Given the description of an element on the screen output the (x, y) to click on. 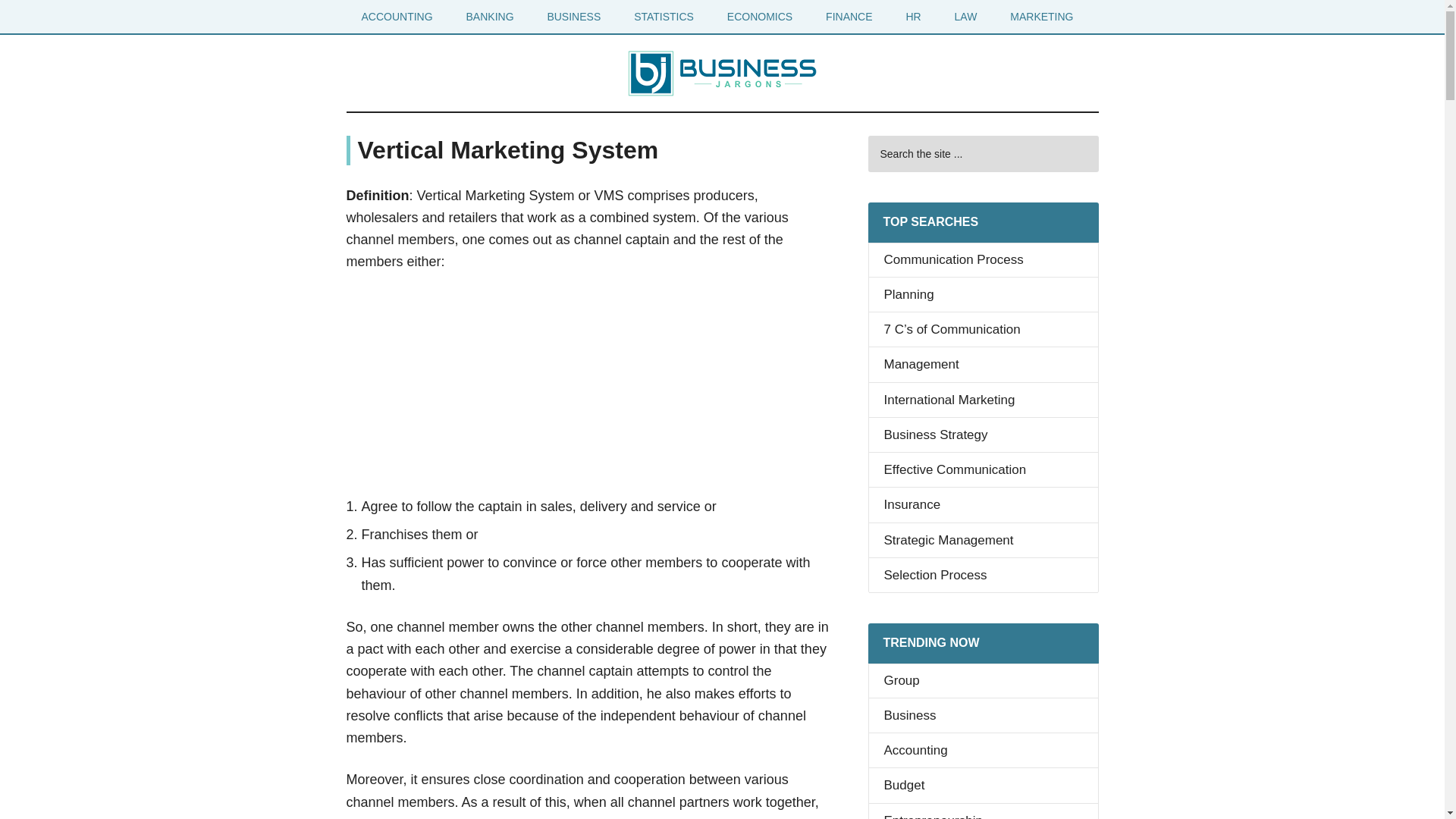
BANKING (490, 16)
ECONOMICS (759, 16)
ACCOUNTING (396, 16)
FINANCE (848, 16)
Advertisement (587, 388)
LAW (965, 16)
HR (912, 16)
STATISTICS (663, 16)
MARKETING (1040, 16)
BUSINESS (573, 16)
